Given the description of an element on the screen output the (x, y) to click on. 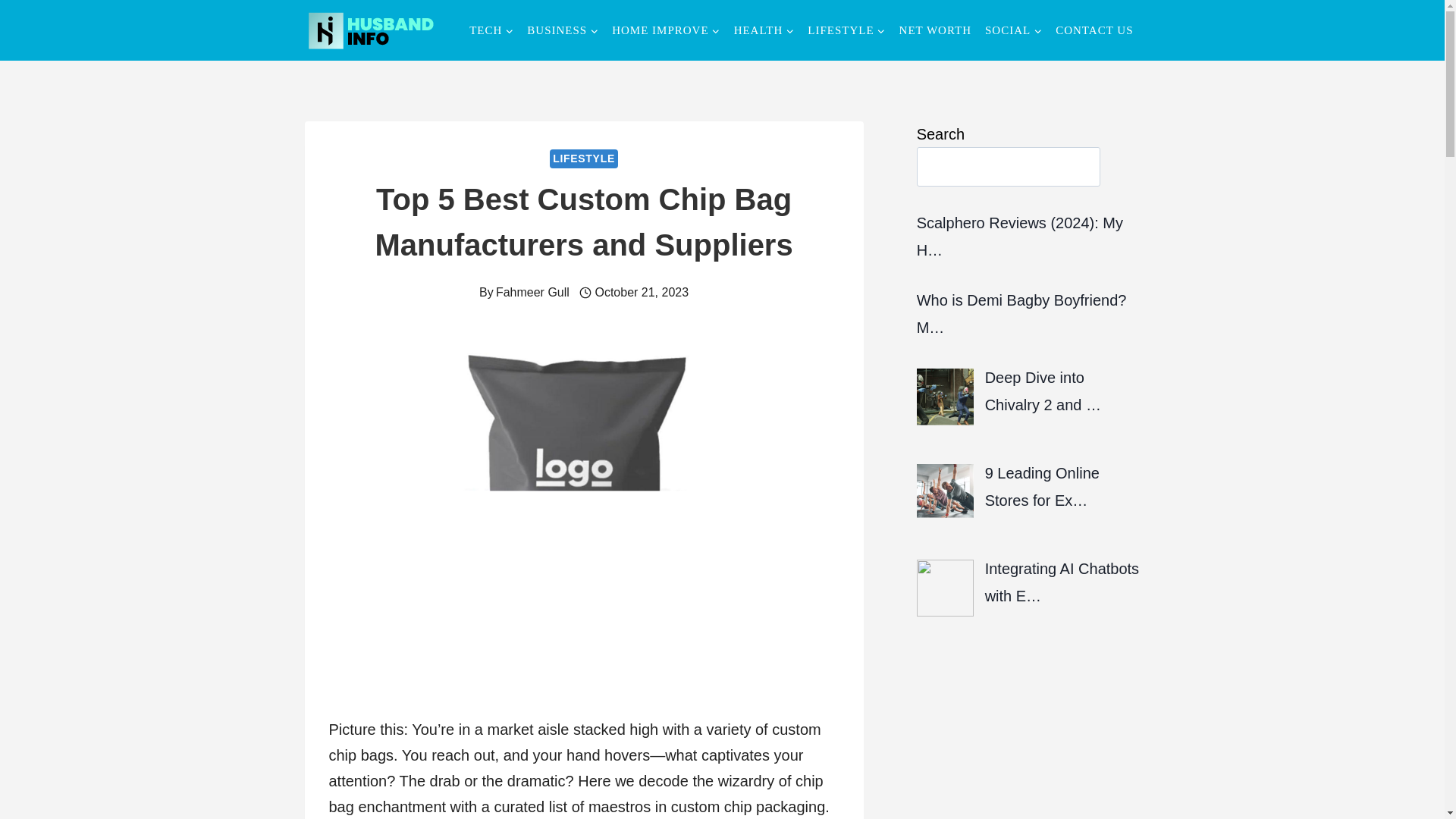
LIFESTYLE (845, 30)
TECH (491, 30)
BUSINESS (562, 30)
HOME IMPROVE (665, 30)
HEALTH (764, 30)
